Given the description of an element on the screen output the (x, y) to click on. 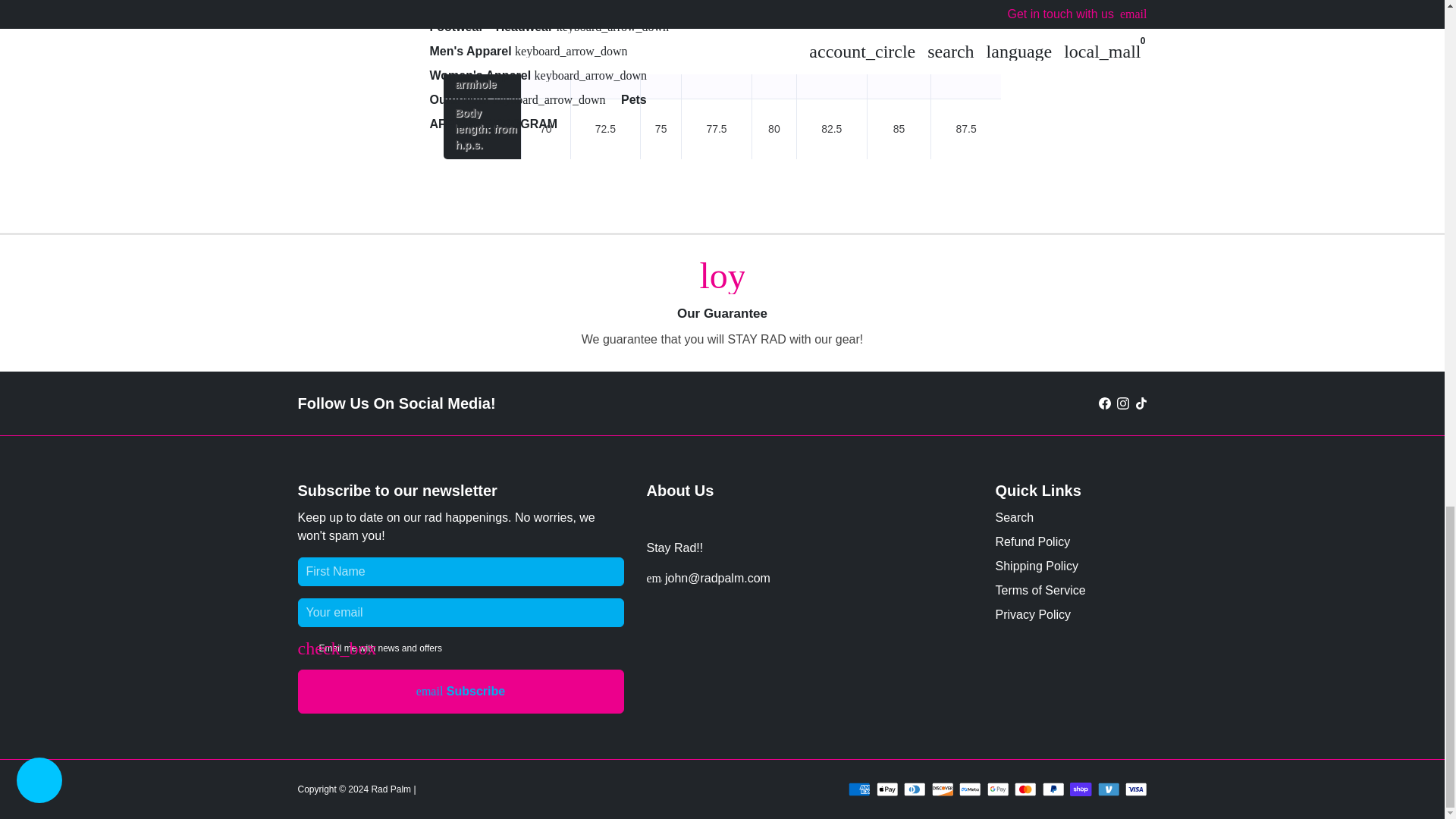
Apple Pay (887, 789)
Google Pay (998, 789)
Meta Pay (970, 789)
American Express (859, 789)
Discover (941, 789)
Diners Club (915, 789)
Mastercard (1025, 789)
